Given the description of an element on the screen output the (x, y) to click on. 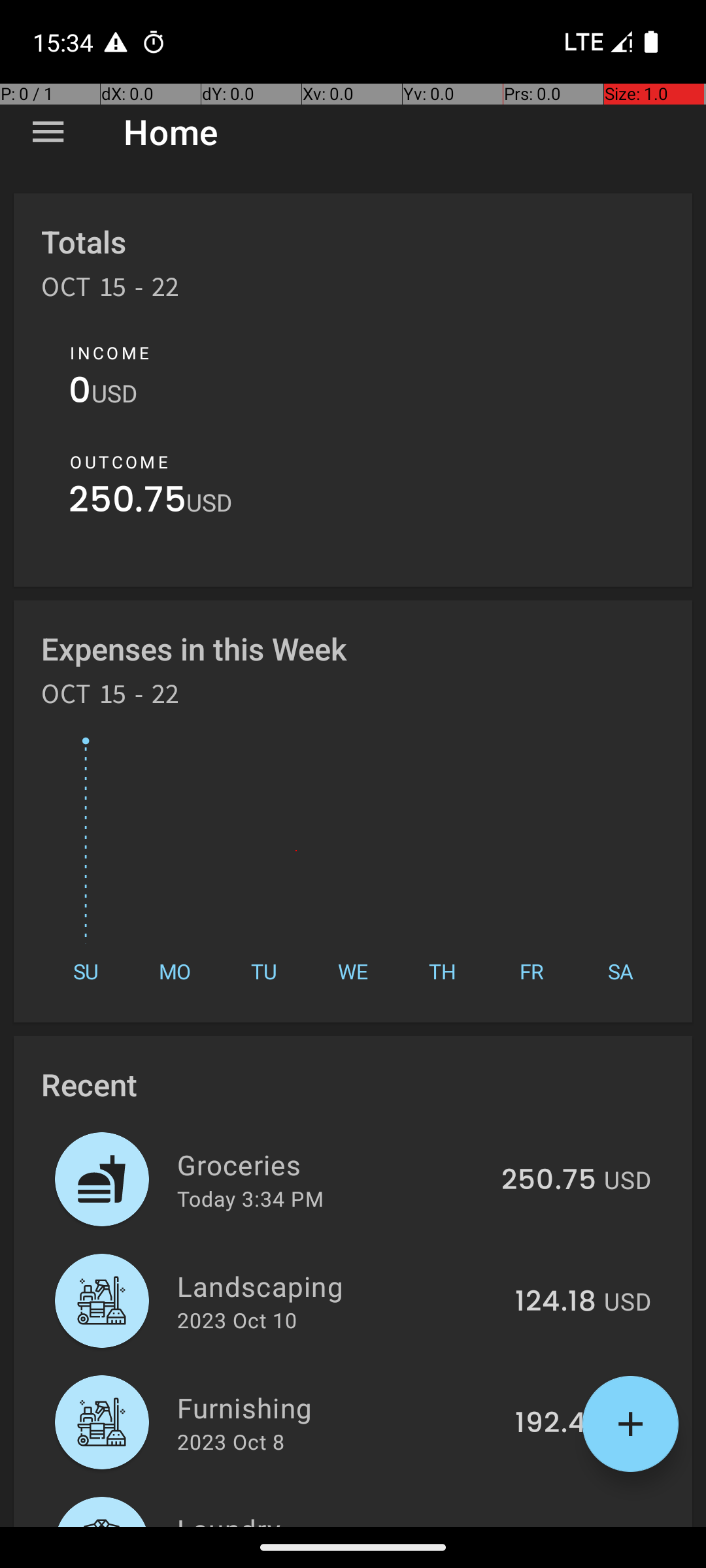
250.75 Element type: android.widget.TextView (127, 502)
Groceries Element type: android.widget.TextView (331, 1164)
Today 3:34 PM Element type: android.widget.TextView (250, 1198)
Landscaping Element type: android.widget.TextView (338, 1285)
124.18 Element type: android.widget.TextView (555, 1301)
Furnishing Element type: android.widget.TextView (338, 1407)
2023 Oct 8 Element type: android.widget.TextView (230, 1441)
192.41 Element type: android.widget.TextView (555, 1423)
Laundry Element type: android.widget.TextView (338, 1518)
151.52 Element type: android.widget.TextView (555, 1524)
